Given the description of an element on the screen output the (x, y) to click on. 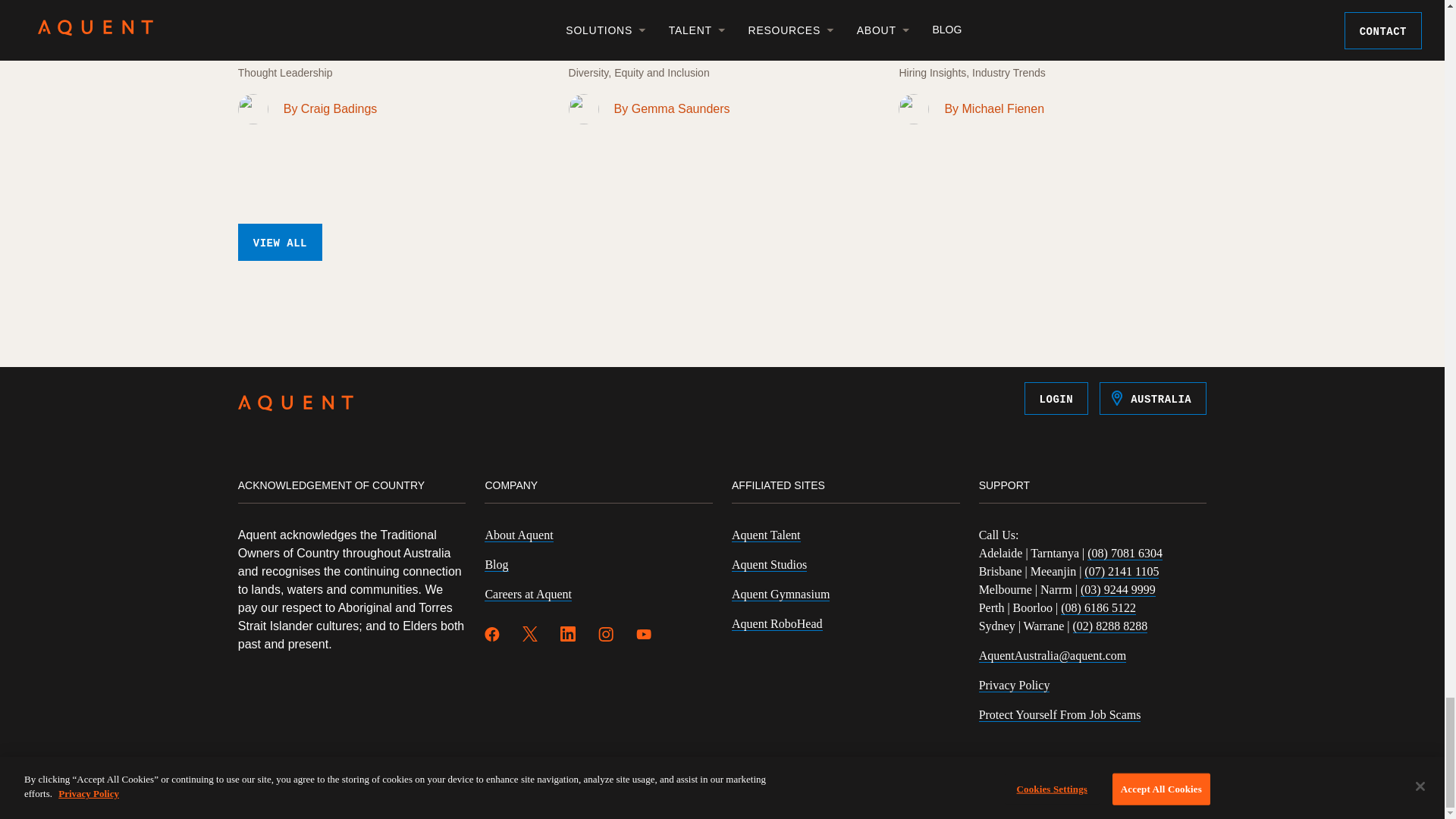
Aquent Homepage (295, 405)
